Given the description of an element on the screen output the (x, y) to click on. 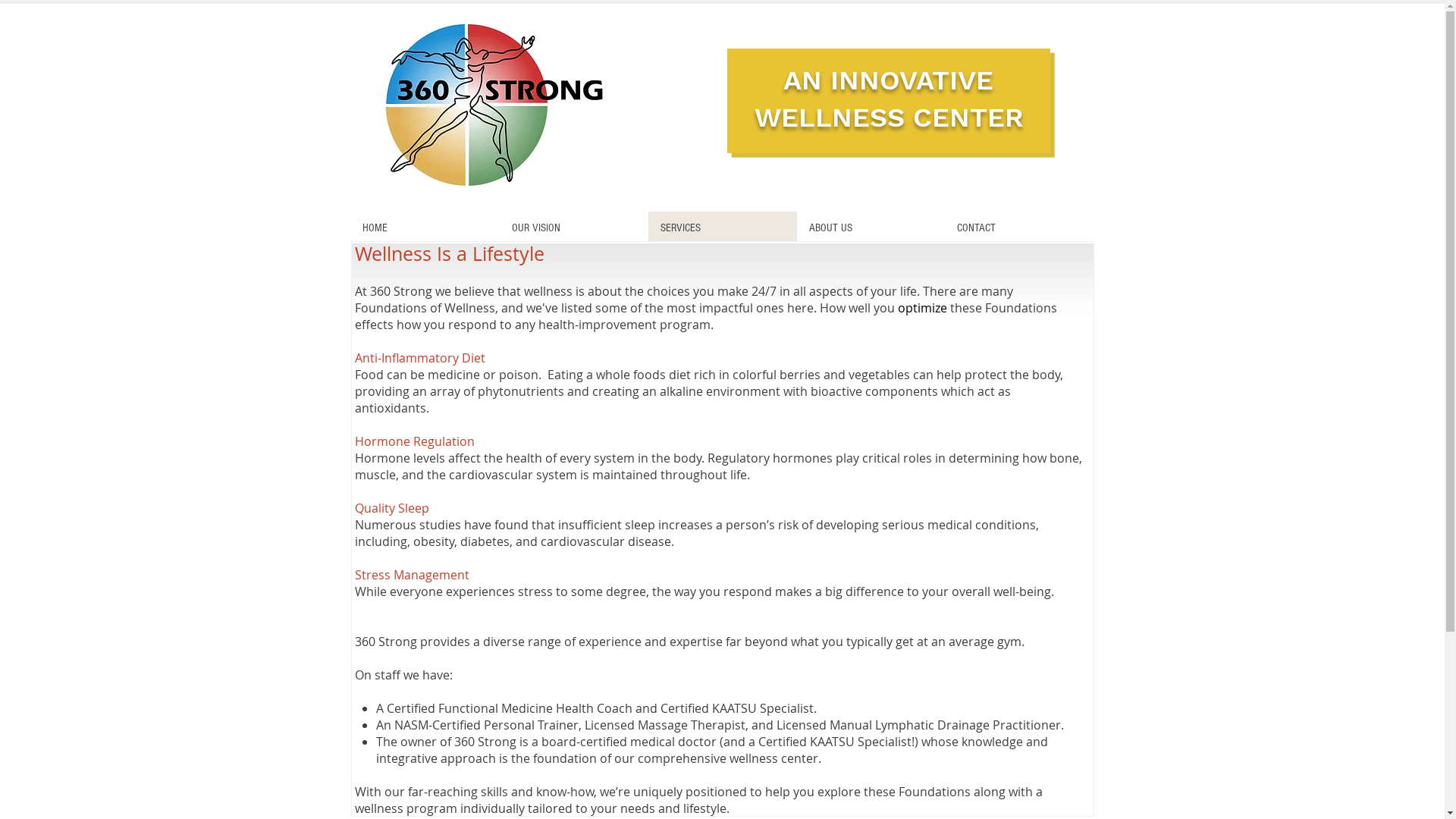
360Strong_logo.jpg Element type: hover (493, 104)
OUR VISION Element type: text (572, 227)
HOME Element type: text (424, 227)
CONTACT Element type: text (1018, 227)
SERVICES Element type: text (721, 227)
ABOUT US Element type: text (870, 227)
